Given the description of an element on the screen output the (x, y) to click on. 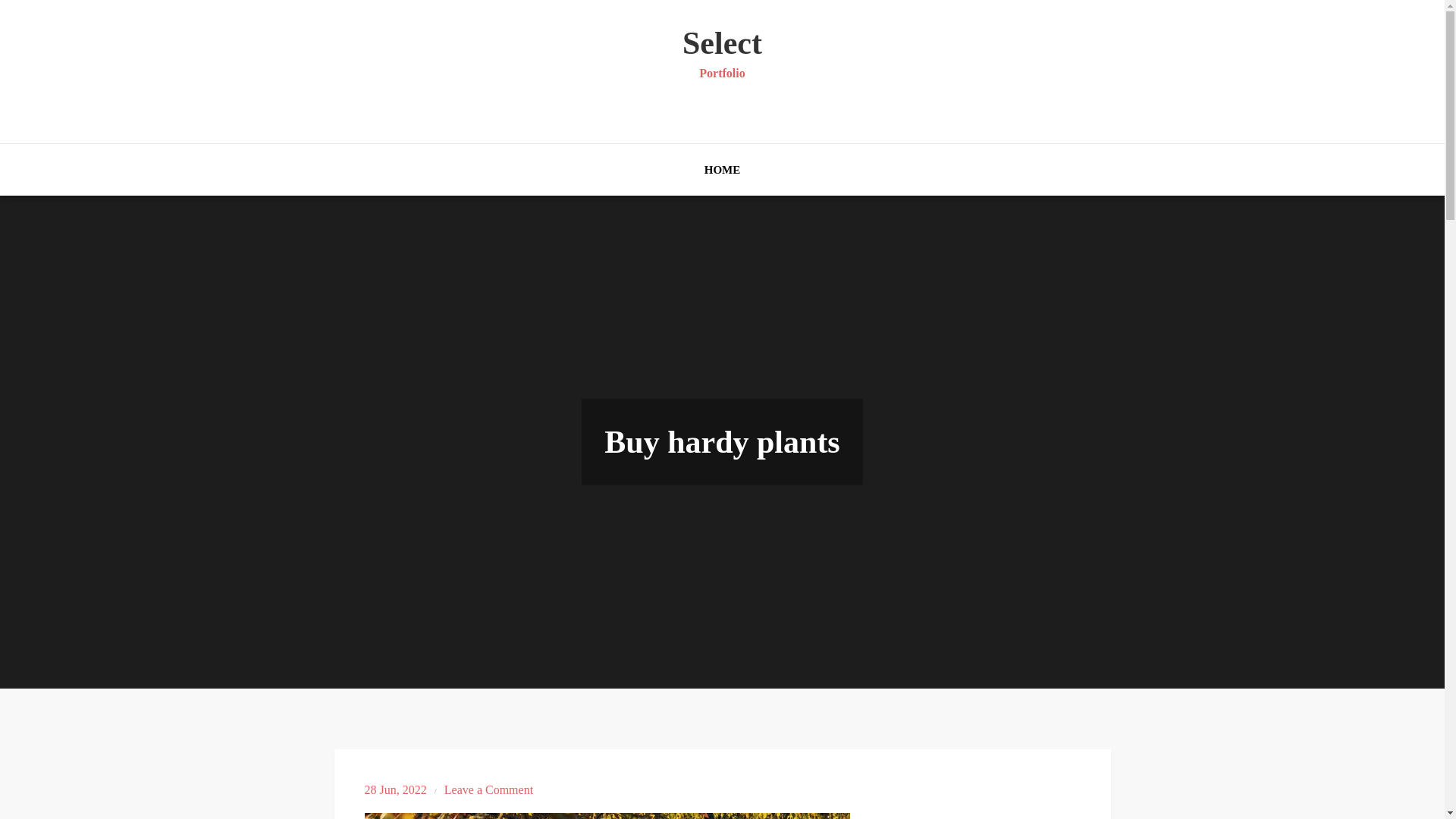
HOME (488, 789)
Select (722, 169)
28 Jun, 2022 (721, 42)
